Given the description of an element on the screen output the (x, y) to click on. 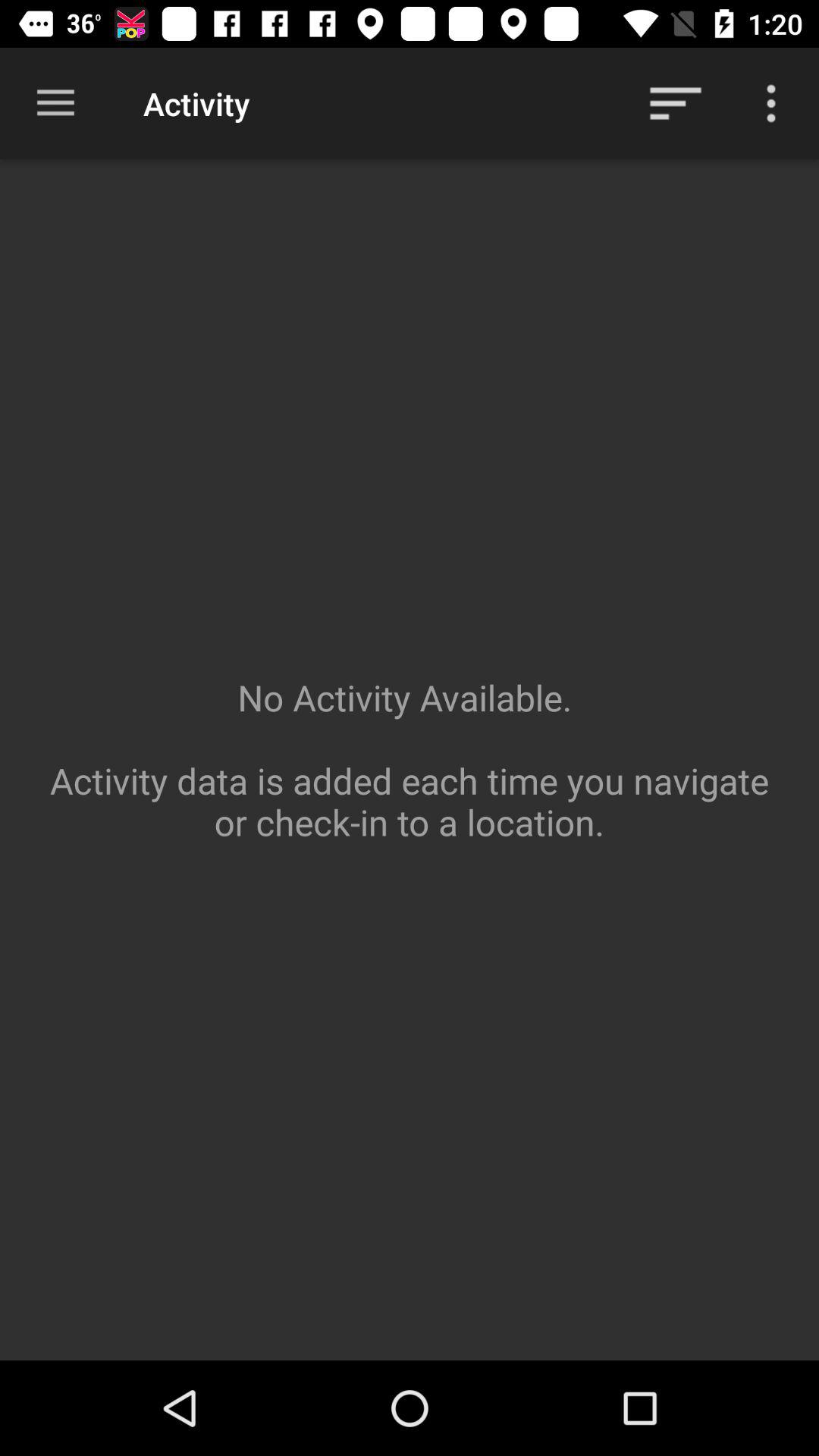
turn on the icon next to the activity item (675, 103)
